Given the description of an element on the screen output the (x, y) to click on. 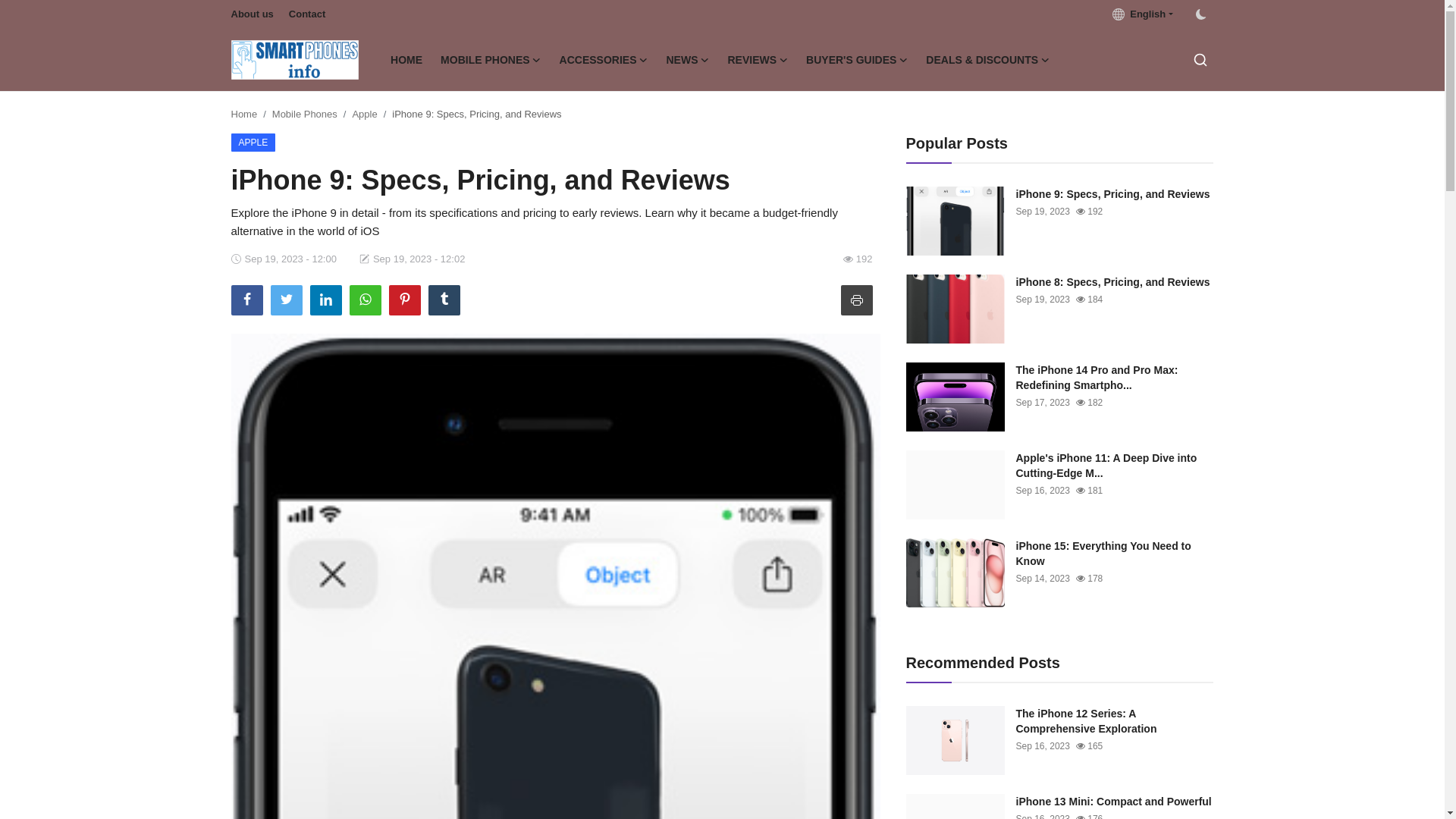
Contact (306, 14)
ACCESSORIES (604, 59)
dark (1200, 14)
  English (1142, 14)
REVIEWS (758, 59)
NEWS (686, 59)
MOBILE PHONES (490, 59)
BUYER'S GUIDES (856, 59)
About us (251, 14)
